Given the description of an element on the screen output the (x, y) to click on. 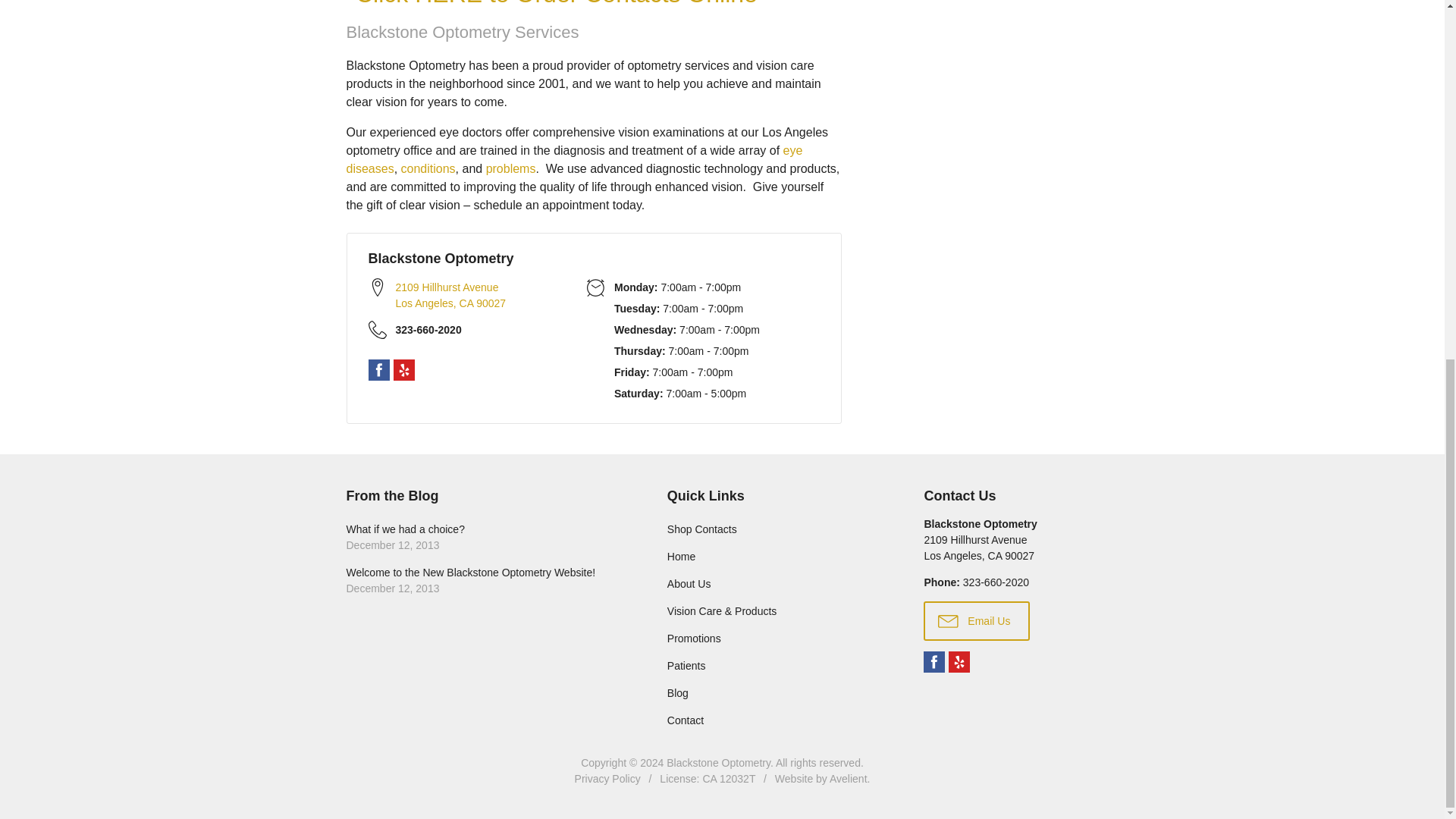
eye diseases (574, 159)
323-660-2020 (467, 330)
Go to our Facebook Page (379, 369)
Call practice (467, 330)
Contact practice (485, 537)
Go to our Facebook Page (995, 582)
problems (933, 661)
conditions (467, 296)
